Given the description of an element on the screen output the (x, y) to click on. 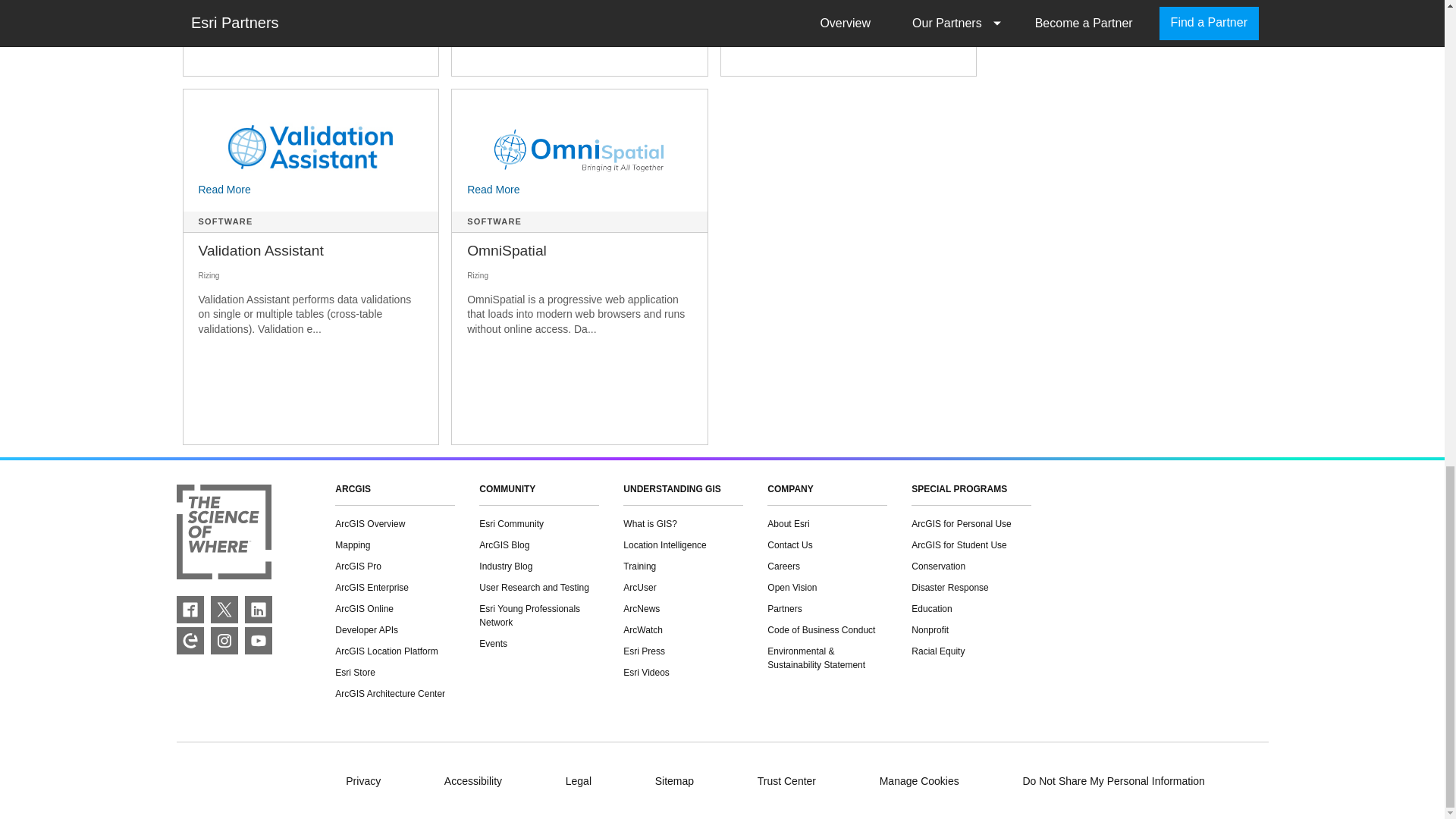
Instagram (224, 640)
Esri CommunityEsri Community (189, 640)
LinkedIn (257, 608)
TwitterTwitter (224, 608)
FacebookFacebook (189, 608)
Esri Community (189, 640)
YouTube (257, 640)
Facebook (189, 608)
InstagramInstagram (224, 640)
More about Esri and the Science of Where (223, 534)
Twitter (224, 608)
LinkedInLinkedIn (257, 608)
